Given the description of an element on the screen output the (x, y) to click on. 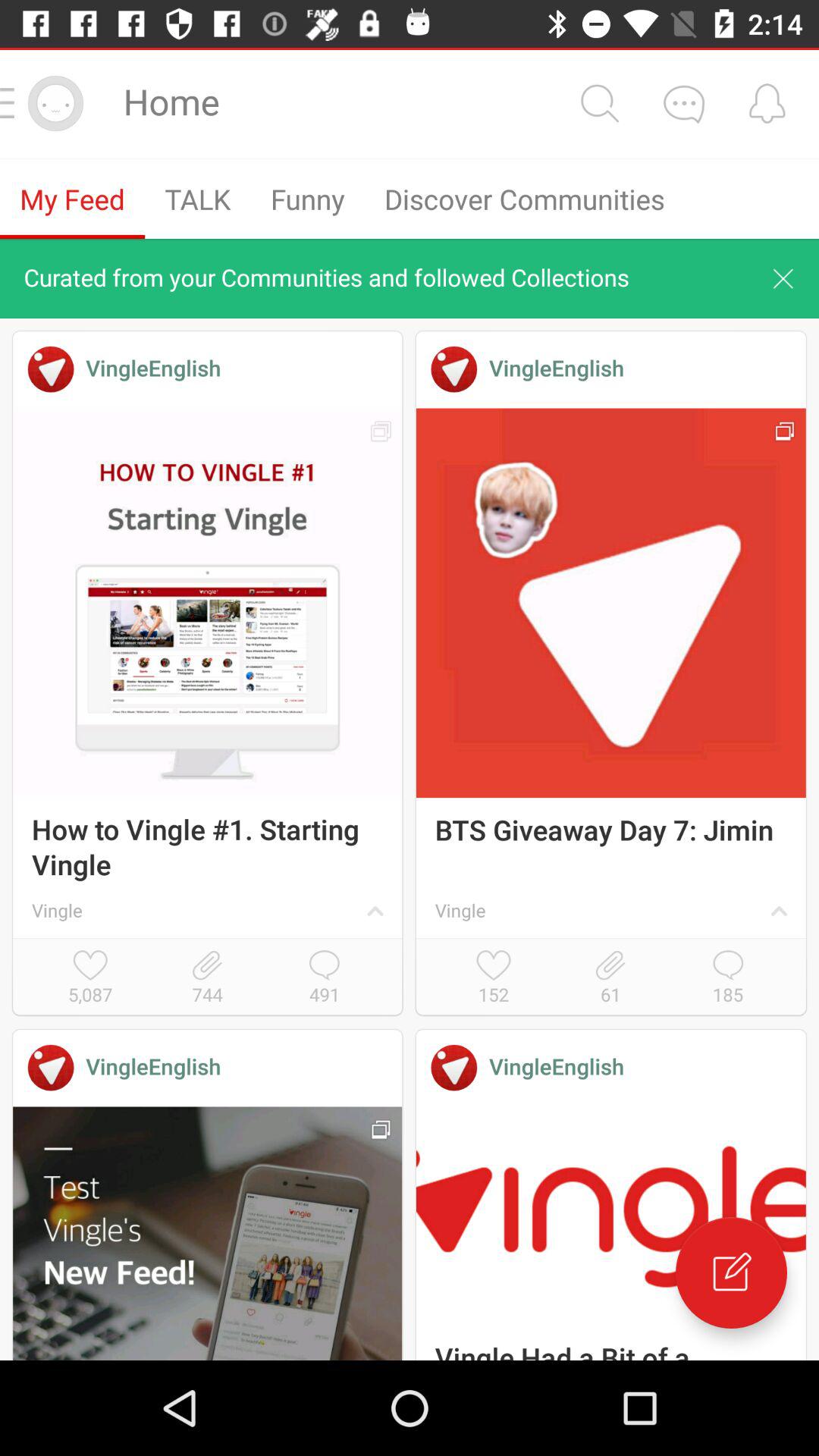
tap item to the left of the 152 item (324, 978)
